Given the description of an element on the screen output the (x, y) to click on. 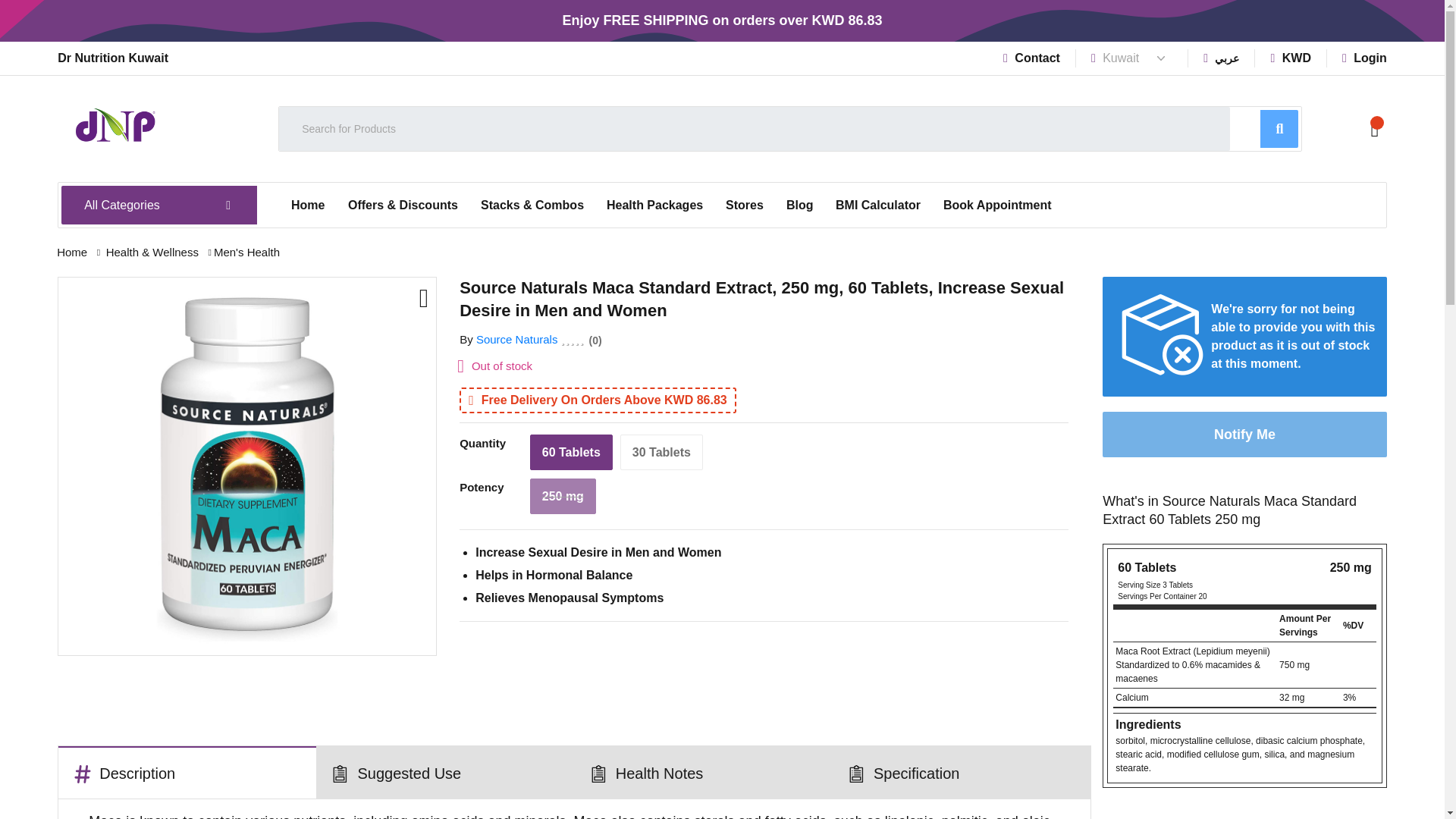
KWD (1290, 58)
Contact (1031, 58)
Login (1364, 58)
Login (1364, 58)
KWD (1290, 58)
Health Packages (654, 205)
Stores (744, 205)
Home (307, 205)
Contact (1031, 58)
